Given the description of an element on the screen output the (x, y) to click on. 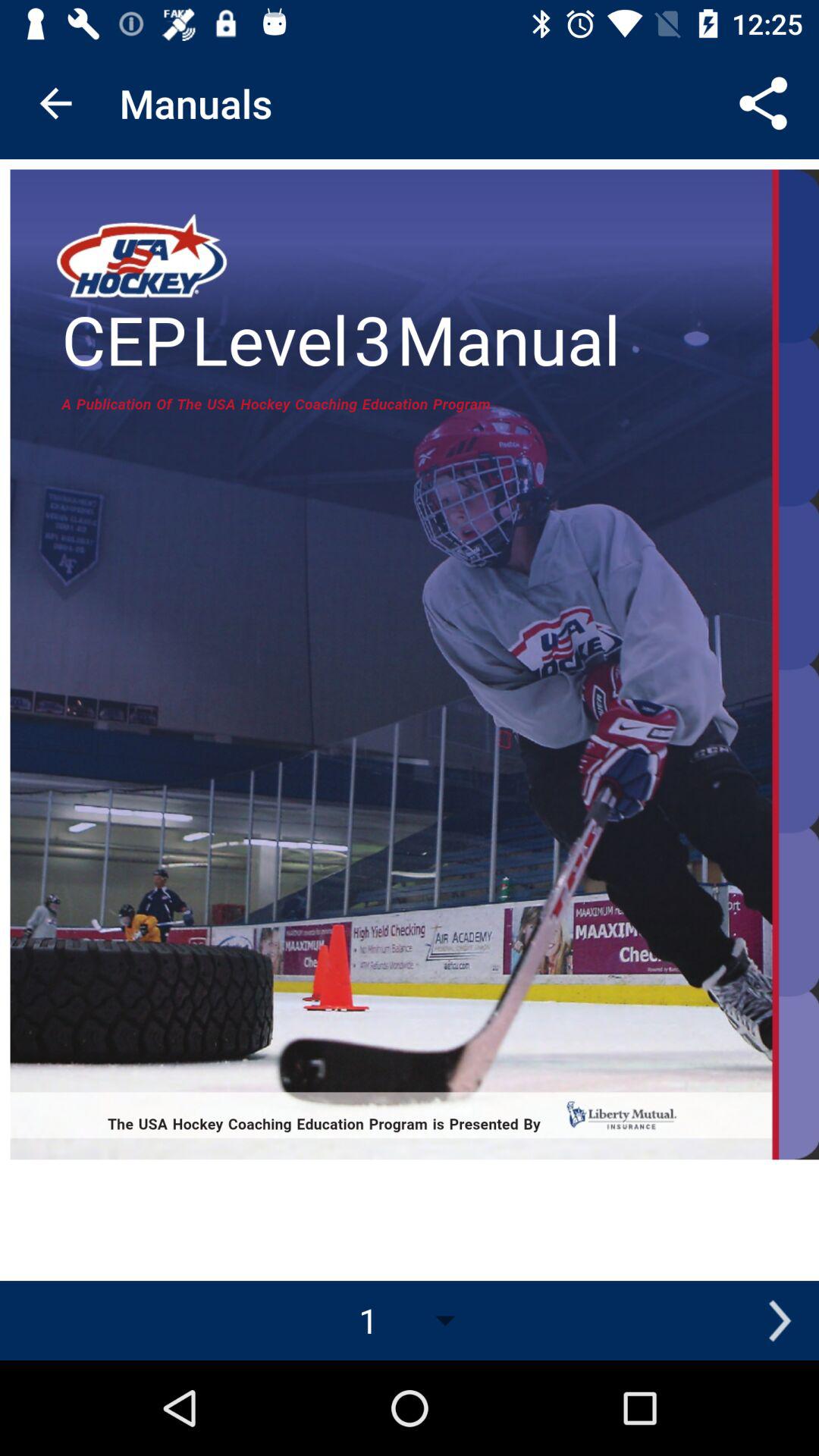
next page (779, 1320)
